Given the description of an element on the screen output the (x, y) to click on. 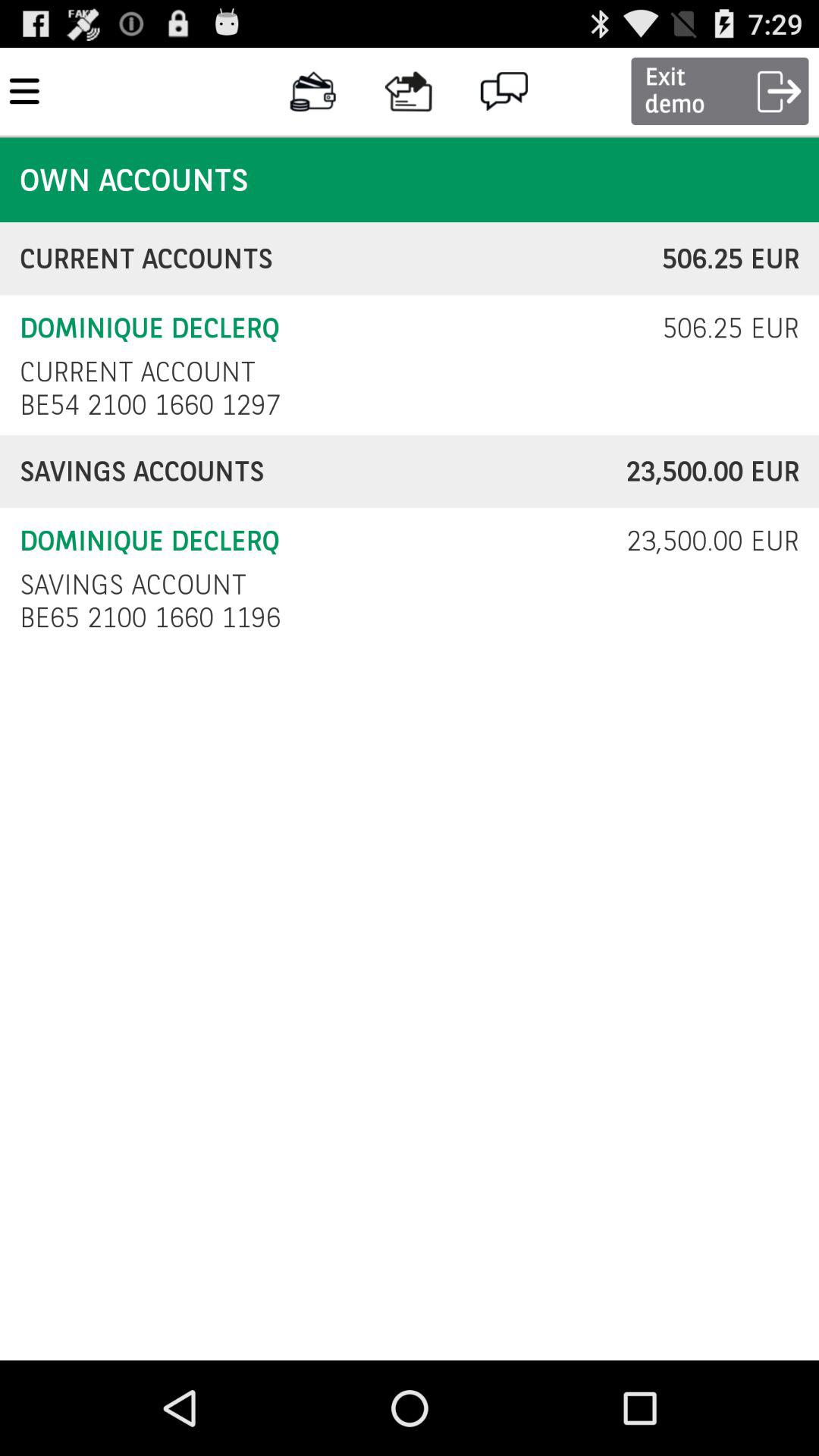
choose the icon below current account item (153, 404)
